Given the description of an element on the screen output the (x, y) to click on. 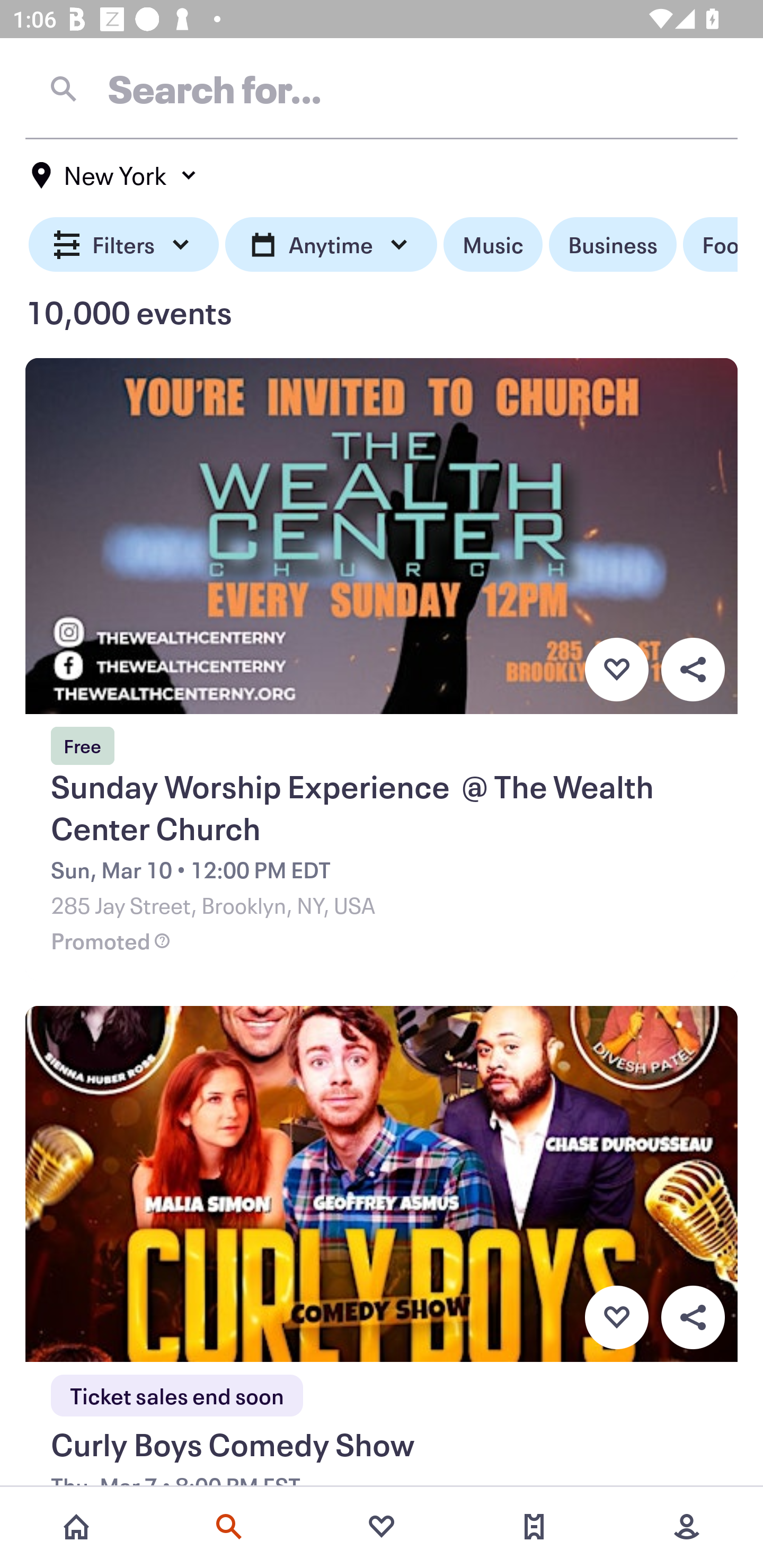
Search for… (381, 88)
New York (114, 175)
Filters (123, 244)
Anytime (331, 244)
Music (492, 244)
Business (612, 244)
Favorite button (616, 669)
Overflow menu button (692, 669)
Favorite button (616, 1317)
Overflow menu button (692, 1317)
Home (76, 1526)
Search events (228, 1526)
Favorites (381, 1526)
Tickets (533, 1526)
More (686, 1526)
